Given the description of an element on the screen output the (x, y) to click on. 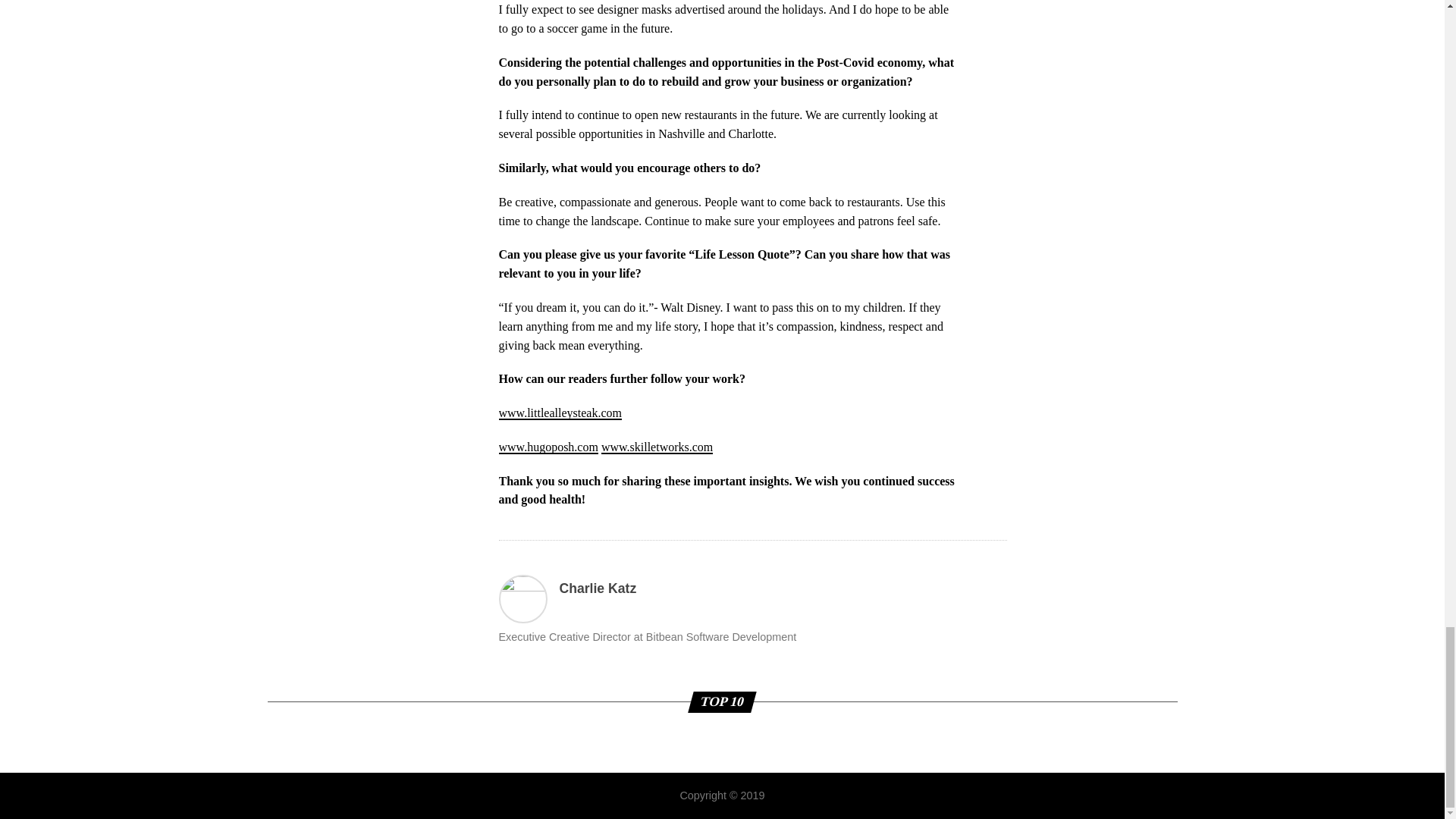
www.littlealleysteak.com (560, 413)
www.hugoposh.com (548, 447)
Posts by Charlie Katz (598, 588)
Charlie Katz (598, 588)
www.skilletworks.com (657, 447)
